Given the description of an element on the screen output the (x, y) to click on. 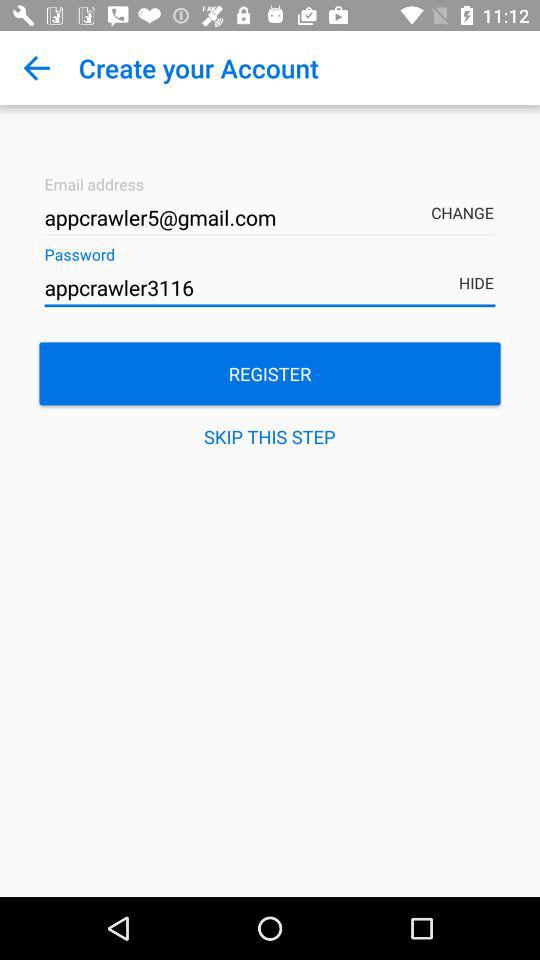
launch item above the appcrawler5@gmail.com (36, 68)
